Given the description of an element on the screen output the (x, y) to click on. 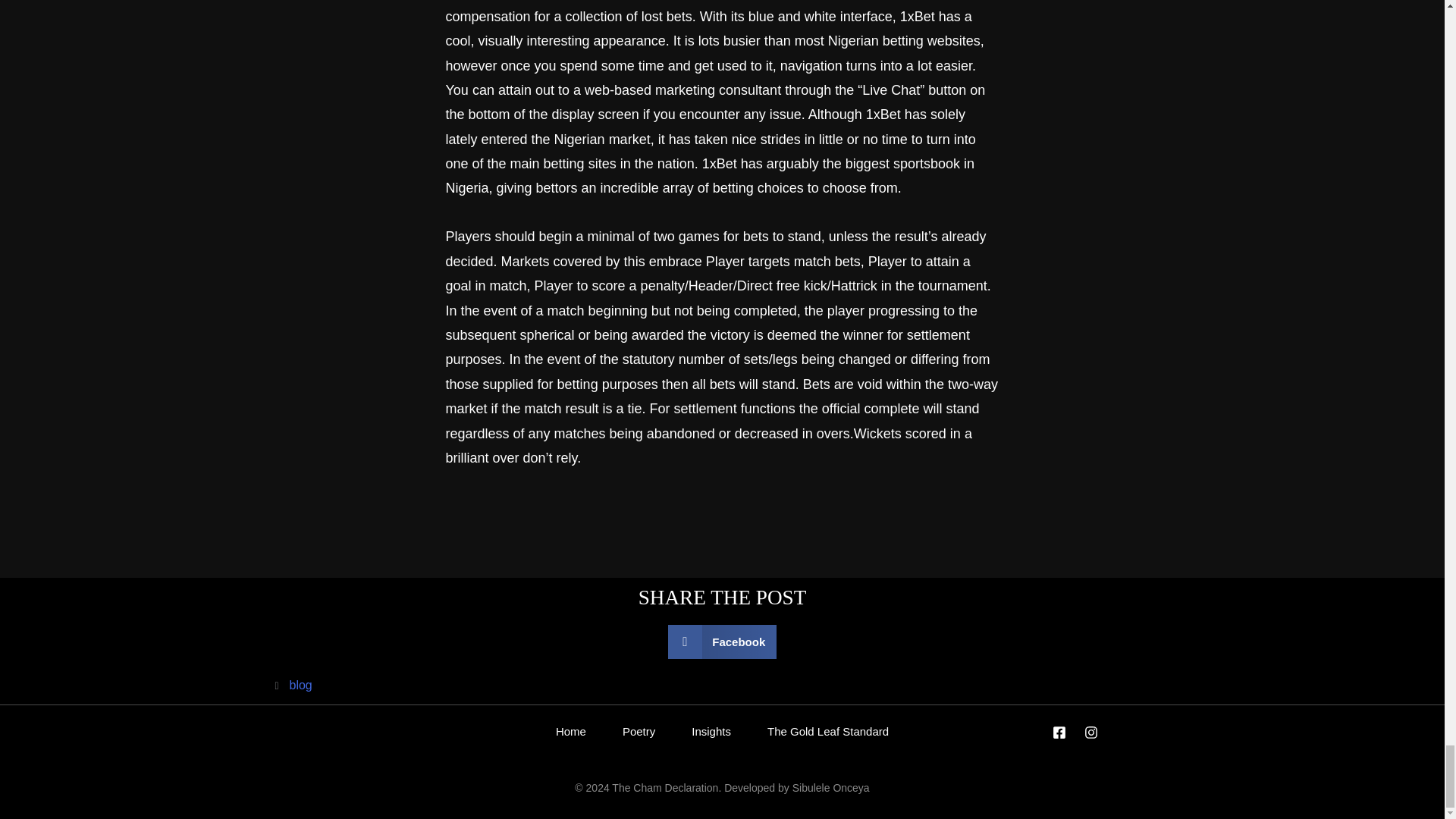
Home (570, 731)
Poetry (638, 731)
The Gold Leaf Standard (828, 731)
Insights (710, 731)
blog (301, 684)
